Given the description of an element on the screen output the (x, y) to click on. 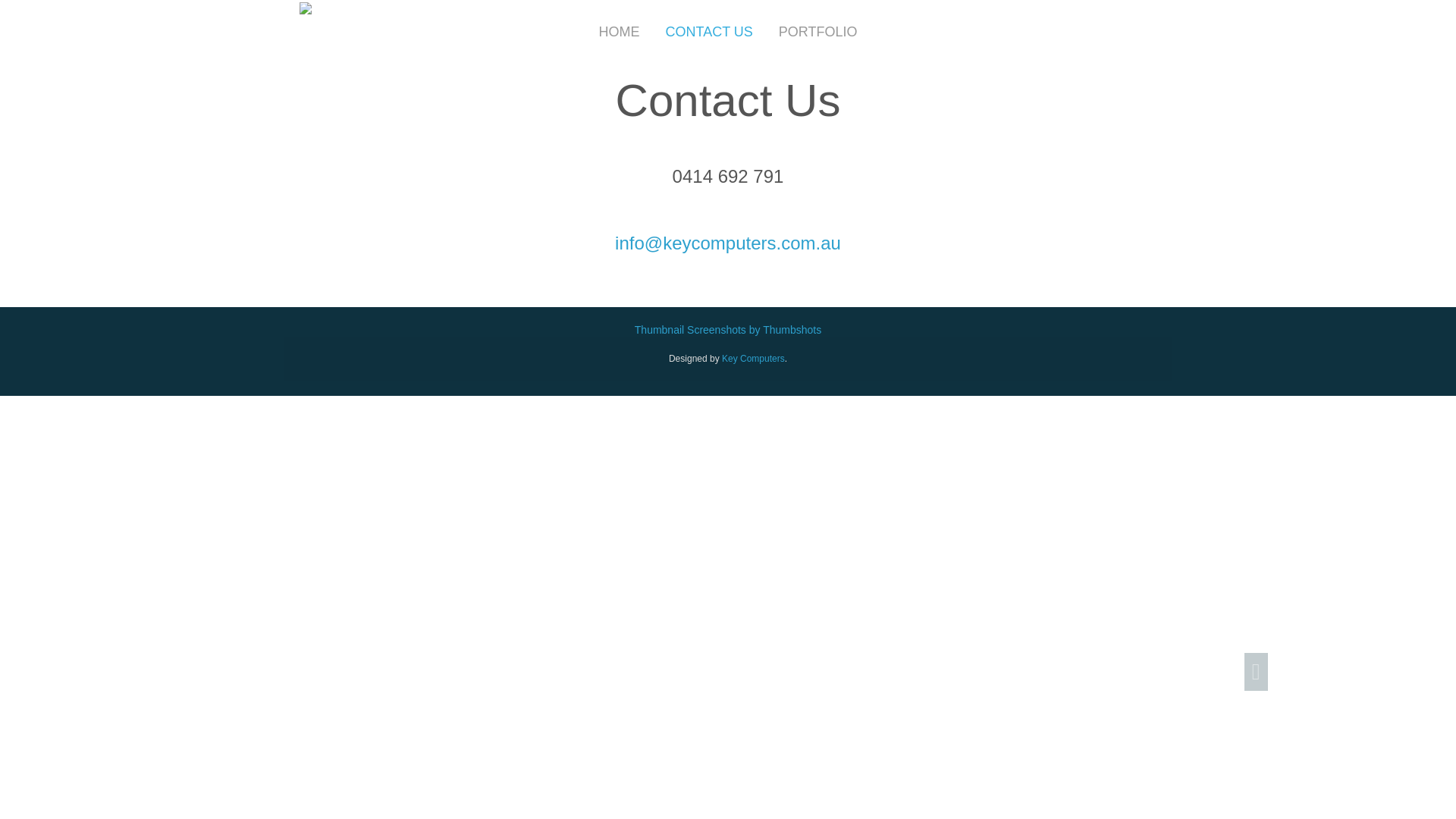
Key Computers Element type: text (752, 358)
PORTFOLIO Element type: text (817, 32)
Thumbnail Screenshots by Thumbshots Element type: text (727, 329)
HOME Element type: text (618, 32)
CONTACT US Element type: text (708, 32)
info@keycomputers.com.au Element type: text (727, 242)
